Given the description of an element on the screen output the (x, y) to click on. 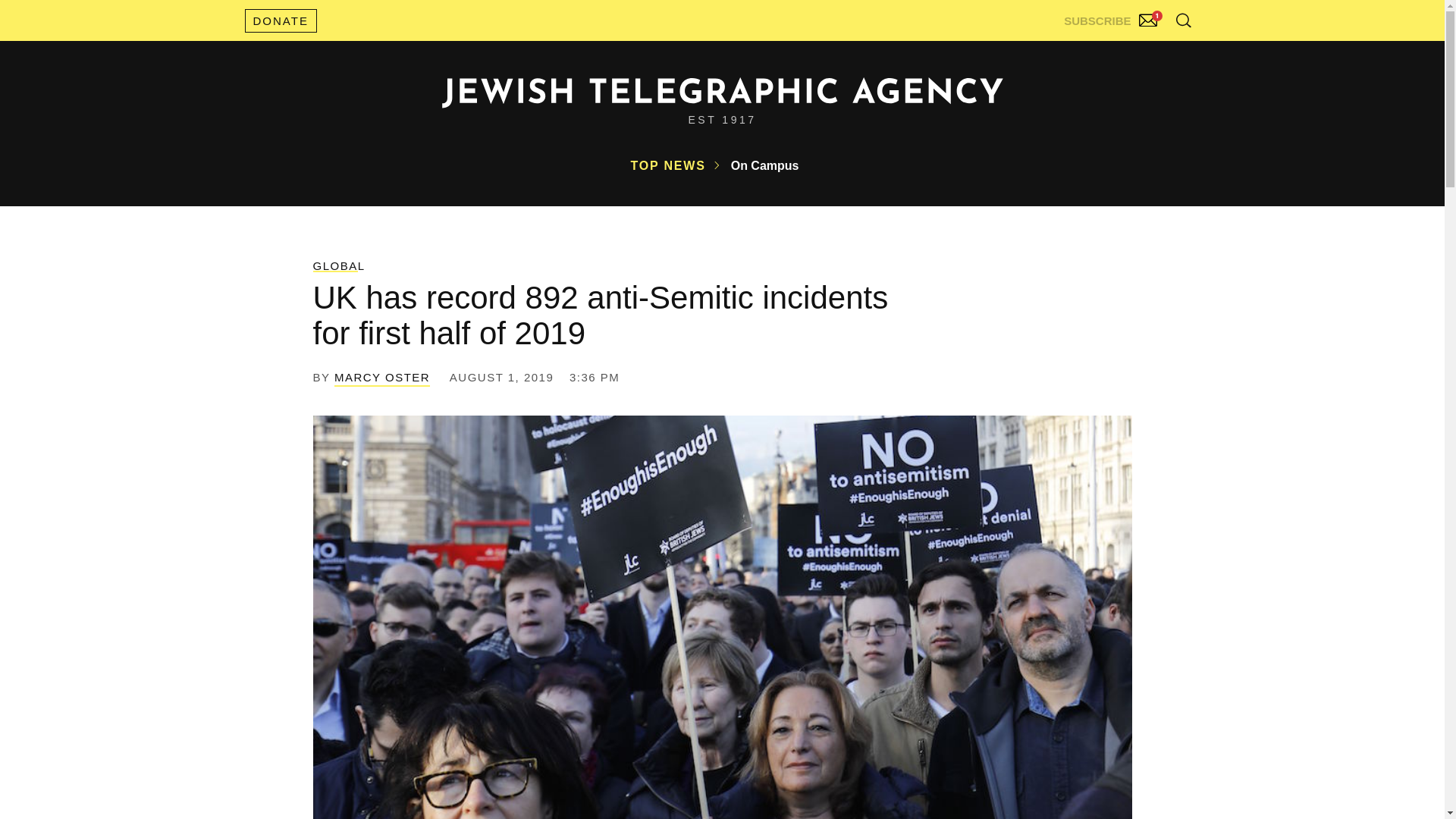
SEARCH TOGGLESEARCH TOGGLE (1182, 20)
Search (1144, 53)
SUBSCRIBE (1112, 17)
DONATE (279, 20)
